Given the description of an element on the screen output the (x, y) to click on. 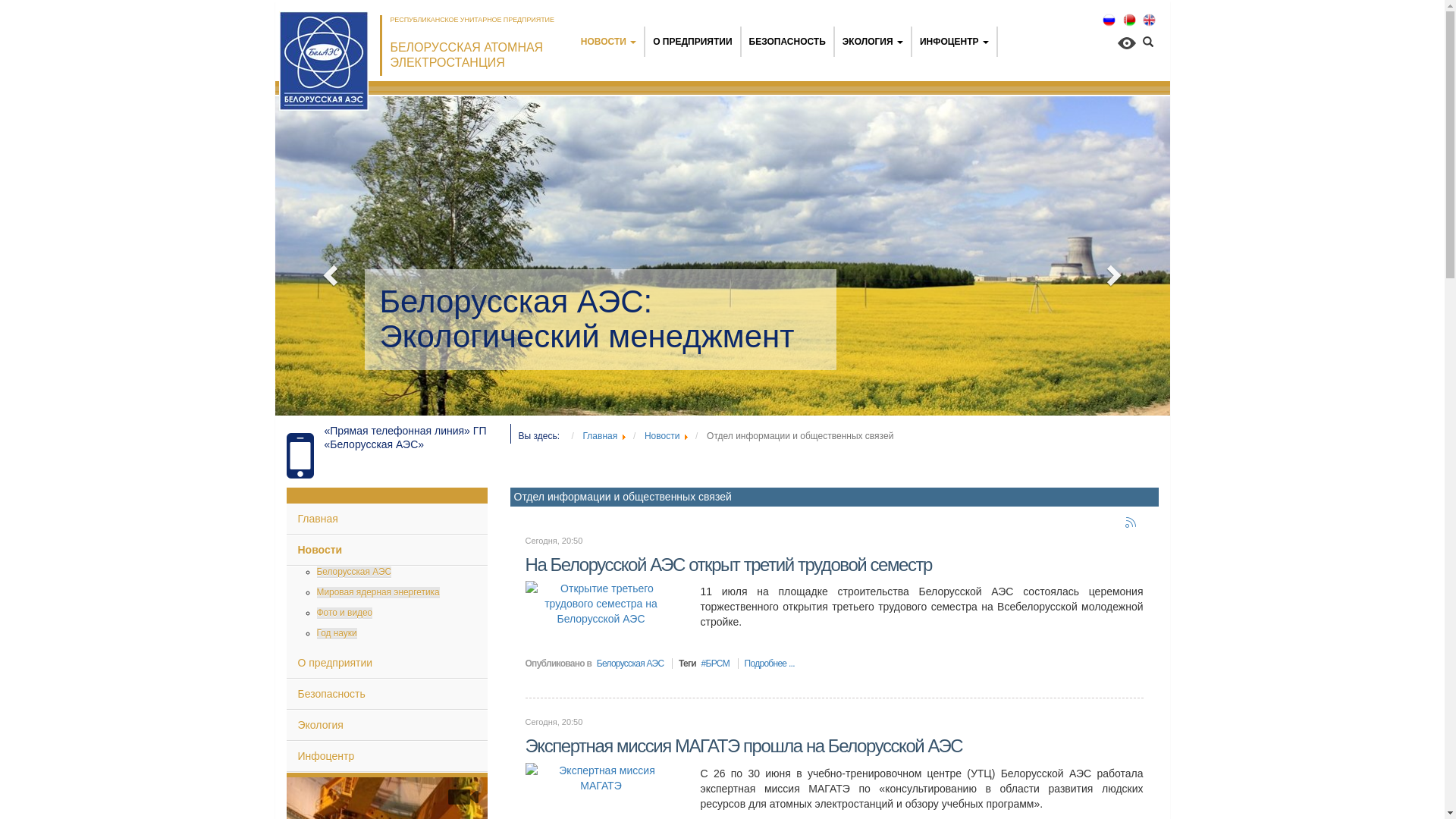
English (UK) Element type: hover (1148, 19)
